Given the description of an element on the screen output the (x, y) to click on. 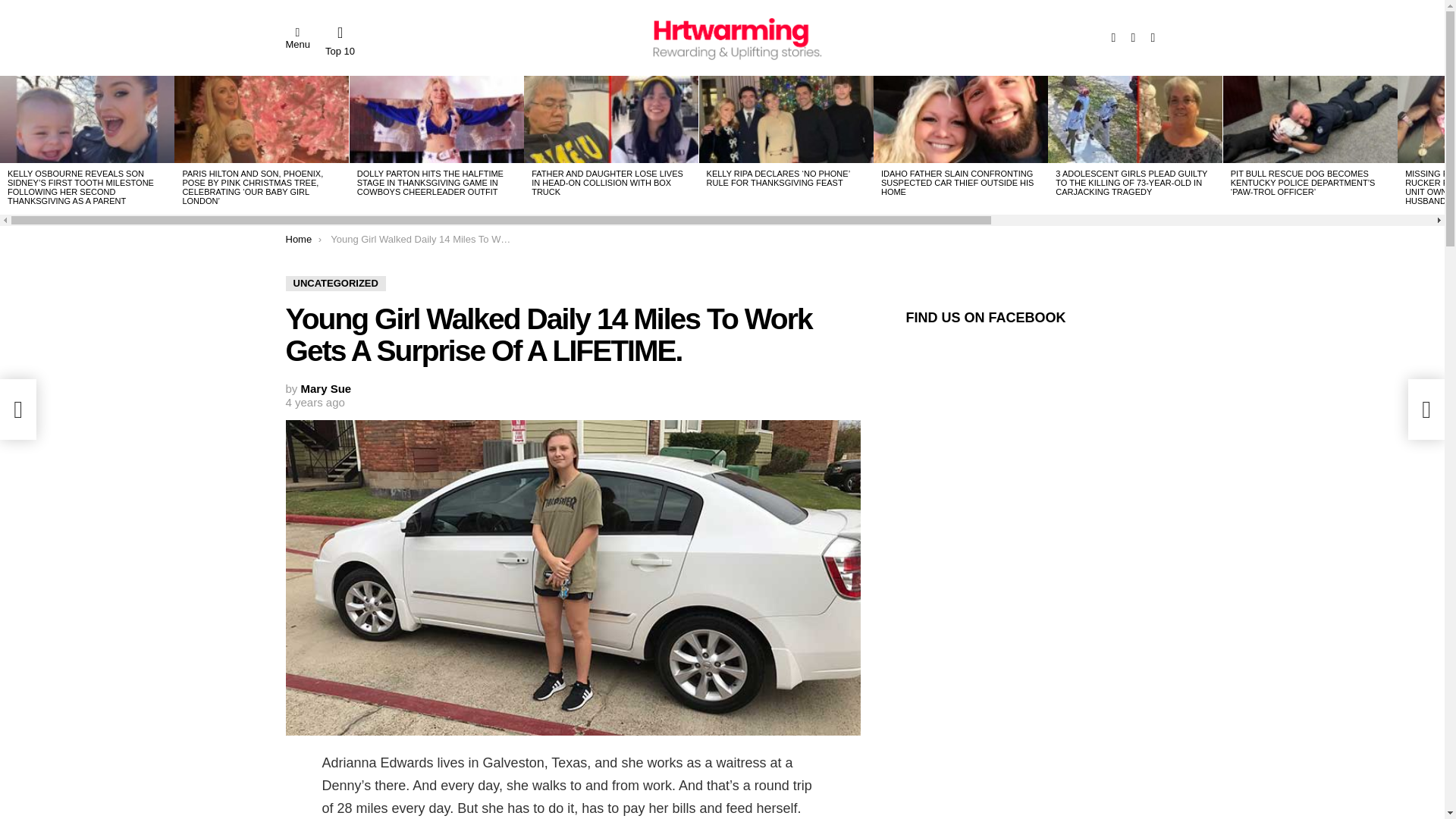
Home (298, 238)
September 9, 2020, 12:54 pm (314, 402)
UNCATEGORIZED (335, 283)
Top 10 (339, 40)
